Given the description of an element on the screen output the (x, y) to click on. 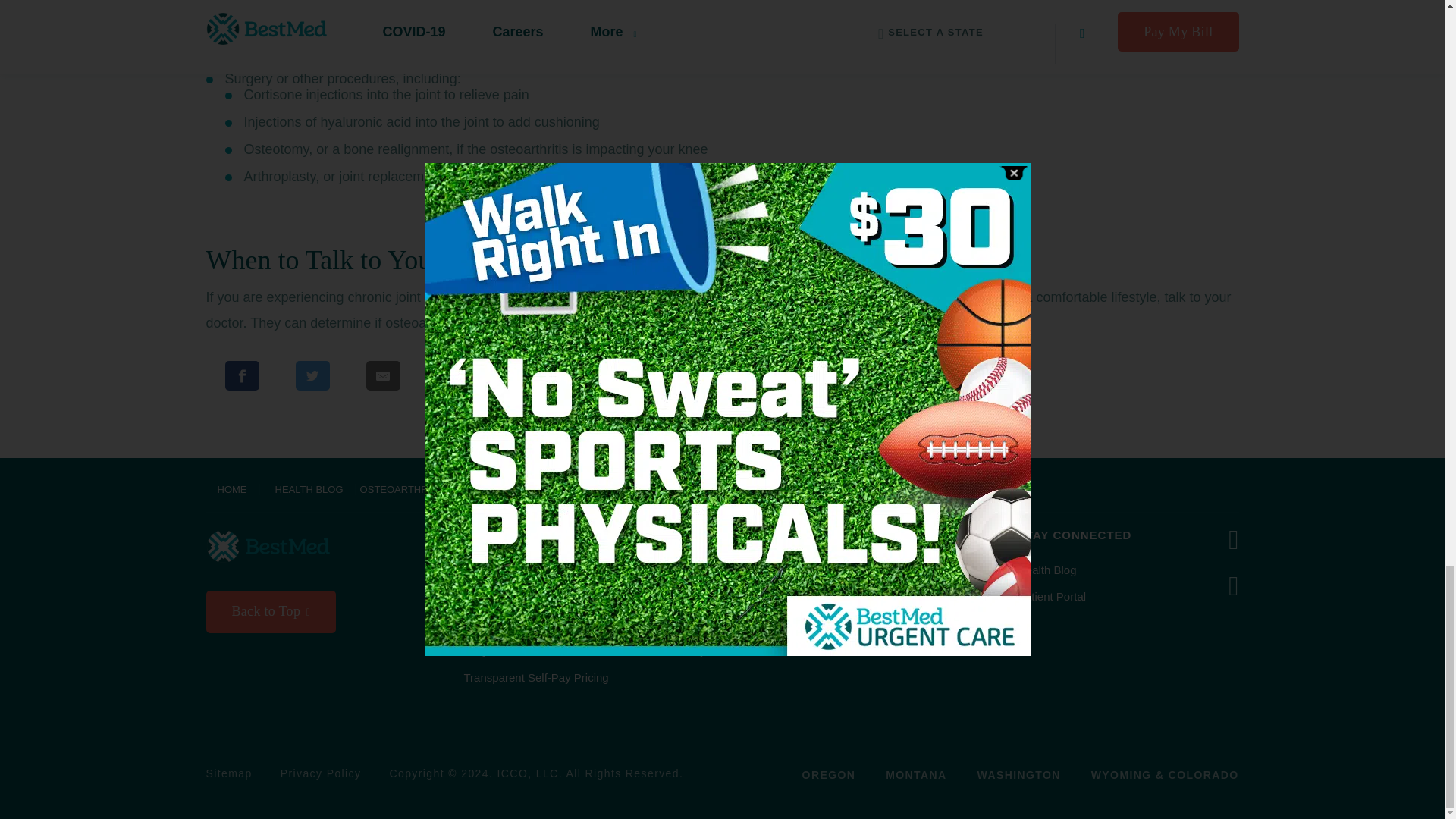
Back to Top (271, 611)
HEALTH BLOG (309, 489)
Transparent Self-Pay Pricing (536, 676)
Patient Financial Responsibility (542, 623)
Insurance (488, 595)
FAQs (478, 649)
About Us (671, 569)
Contact Us (491, 569)
HOME (233, 489)
